Given the description of an element on the screen output the (x, y) to click on. 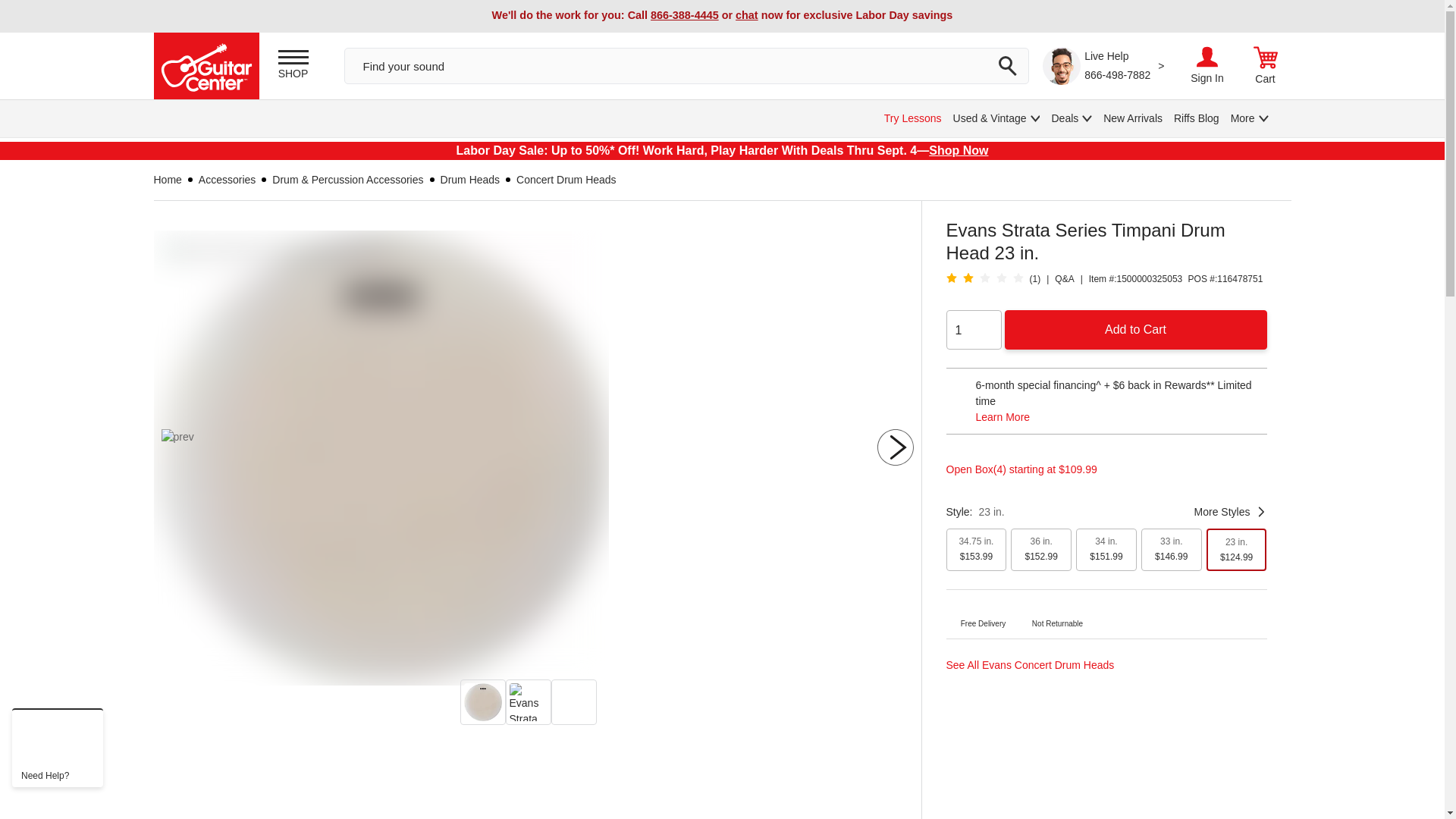
Riffs Blog (1196, 118)
Deals (1071, 118)
New Arrivals (1132, 118)
New Arrivals (1132, 118)
SHOP (292, 65)
chat (746, 15)
Sign In (1207, 65)
Sign In (1207, 76)
Try Lessons (912, 118)
Free Delivery (983, 613)
